Given the description of an element on the screen output the (x, y) to click on. 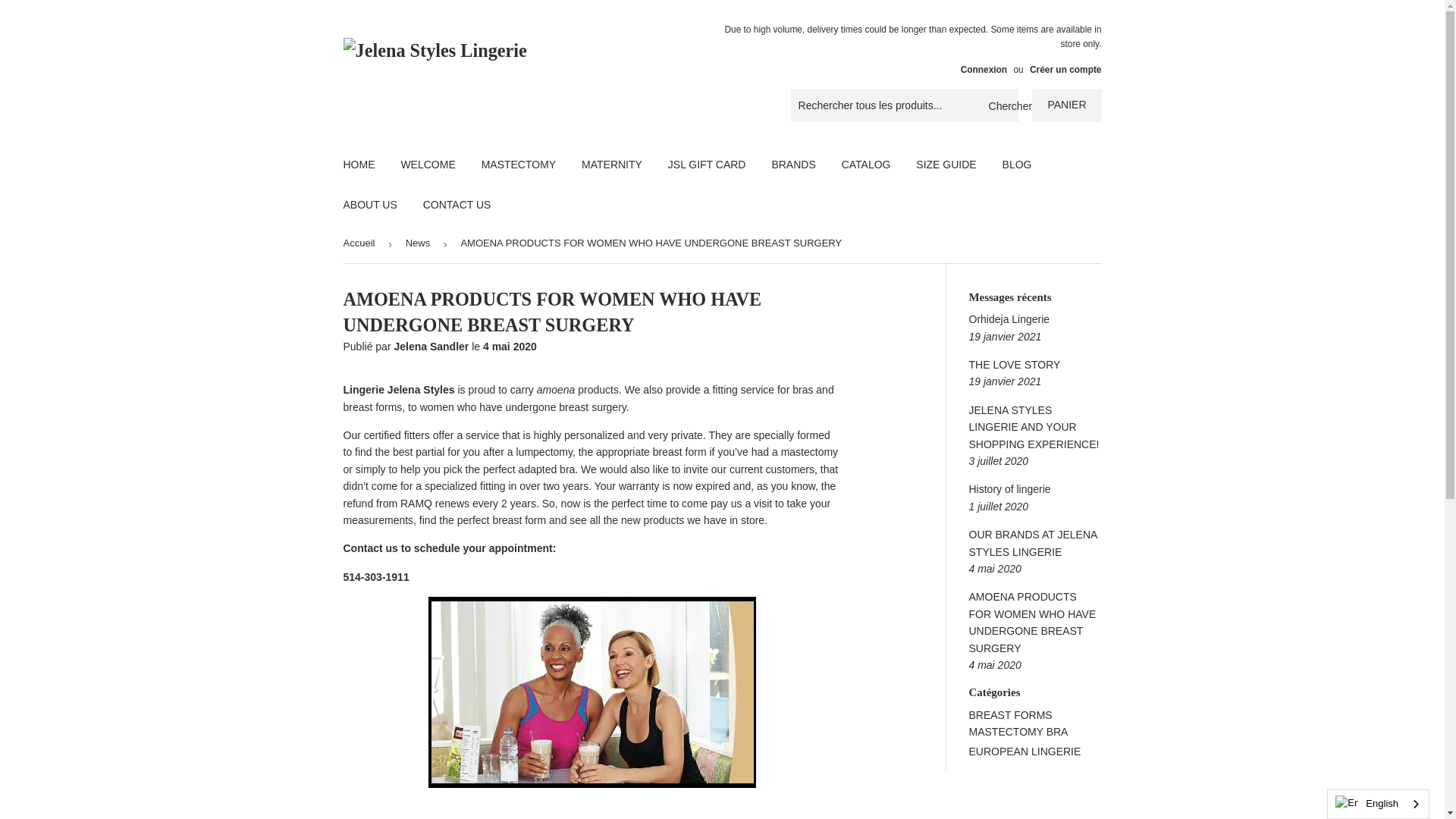
Connexion (983, 69)
Chercher (1000, 106)
Show articles tagged BREAST FORMS MASTECTOMY BRA (1018, 723)
PANIER (1066, 105)
Show articles tagged EUROPEAN LINGERIE (1025, 751)
